Given the description of an element on the screen output the (x, y) to click on. 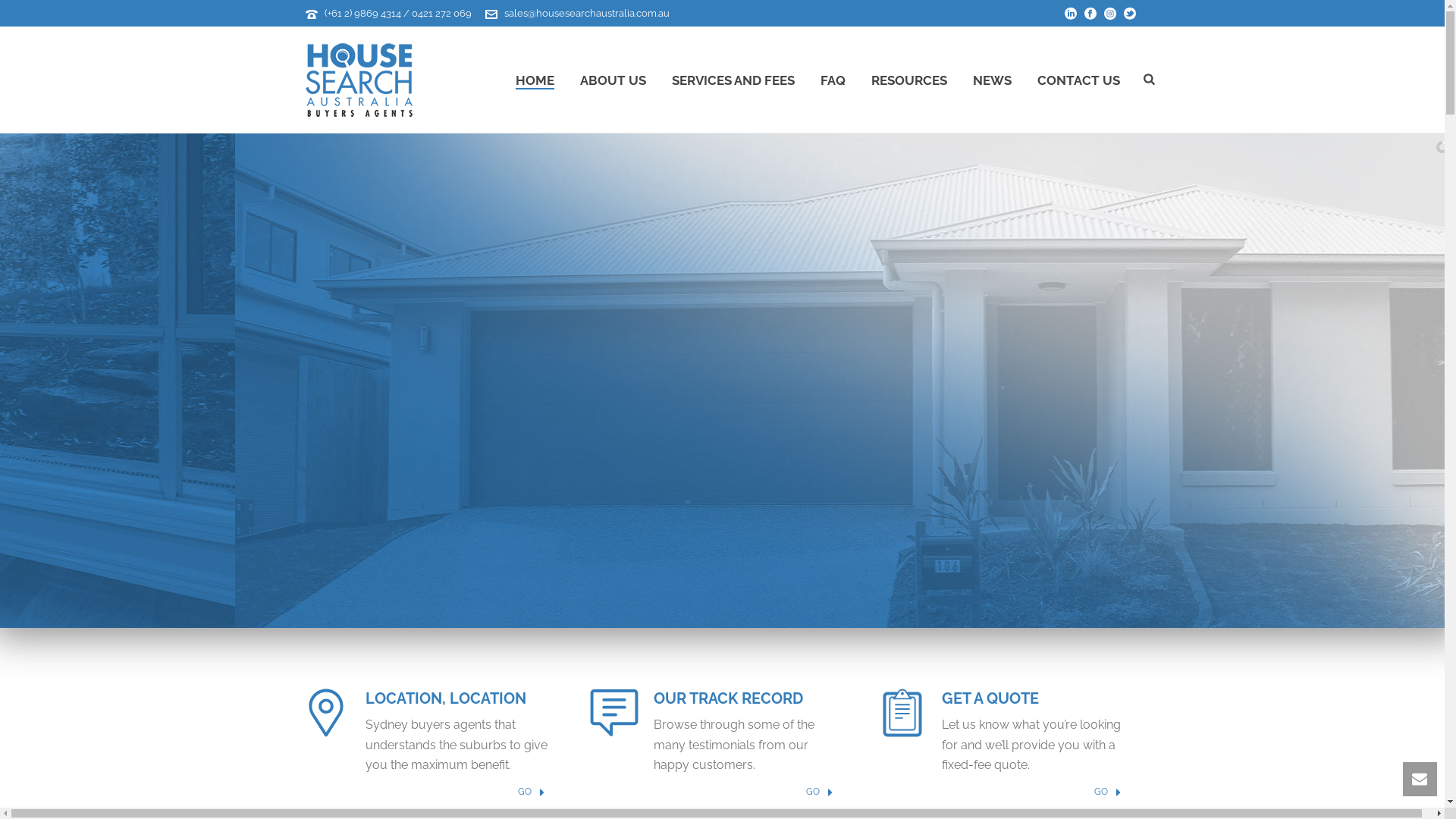
FAQ Element type: text (832, 80)
GO Element type: text (530, 791)
SERVICES AND FEES Element type: text (732, 80)
LOCATION, LOCATION Element type: text (445, 698)
RESOURCES Element type: text (909, 80)
sales@housesearchaustralia.com.au Element type: text (585, 12)
GO Element type: text (1107, 791)
GO Element type: text (819, 791)
(+61 2) 9869 4314 / 0421 272 069 Element type: text (397, 12)
CONTACT US Element type: text (1078, 80)
ABOUT US Element type: text (612, 80)
HOME Element type: text (534, 80)
GET A QUOTE Element type: text (989, 698)
NEWS Element type: text (992, 80)
OUR TRACK RECORD Element type: text (728, 698)
